Given the description of an element on the screen output the (x, y) to click on. 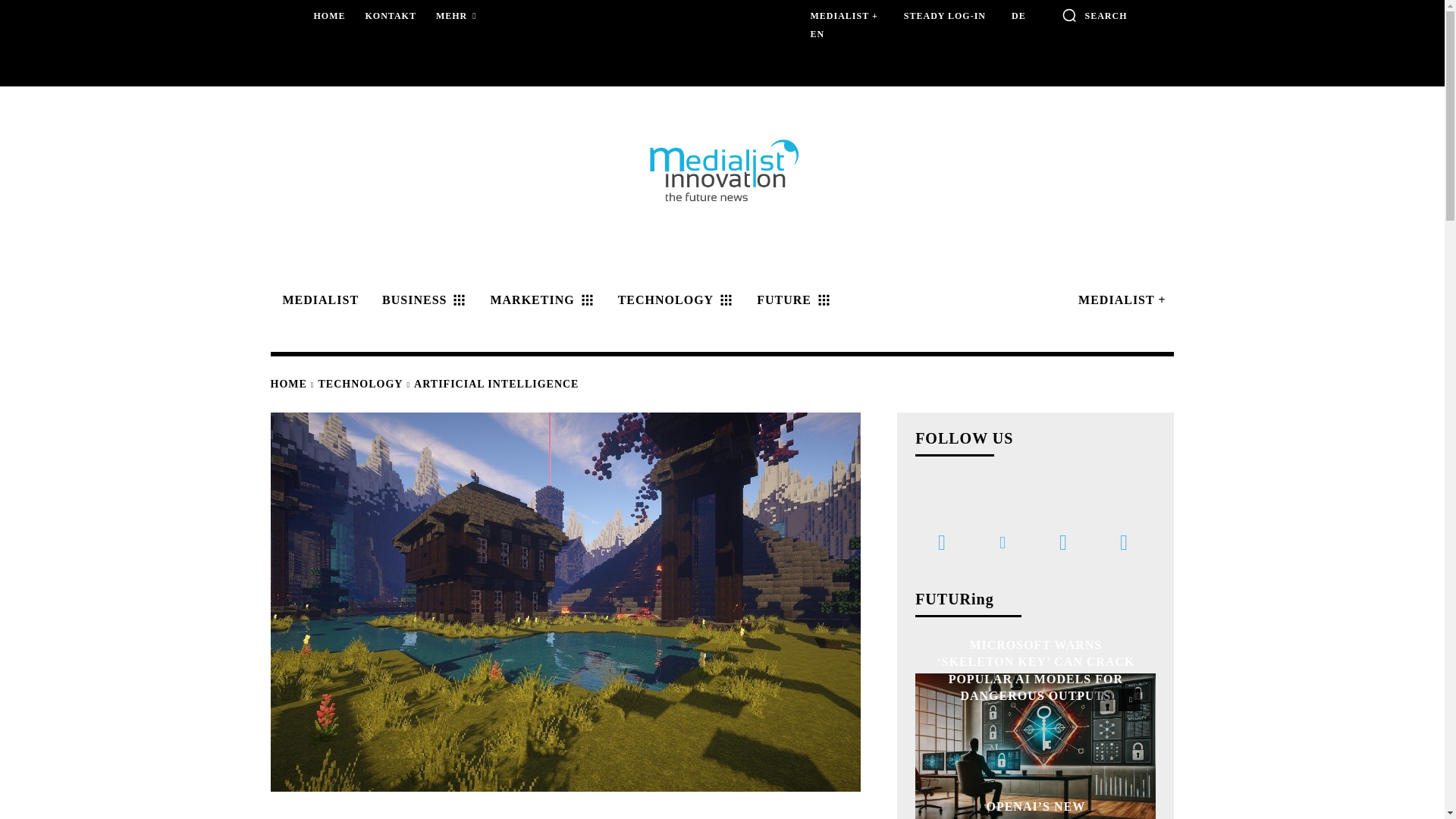
MEHR (456, 16)
HOME (329, 15)
KONTAKT (390, 15)
